Given the description of an element on the screen output the (x, y) to click on. 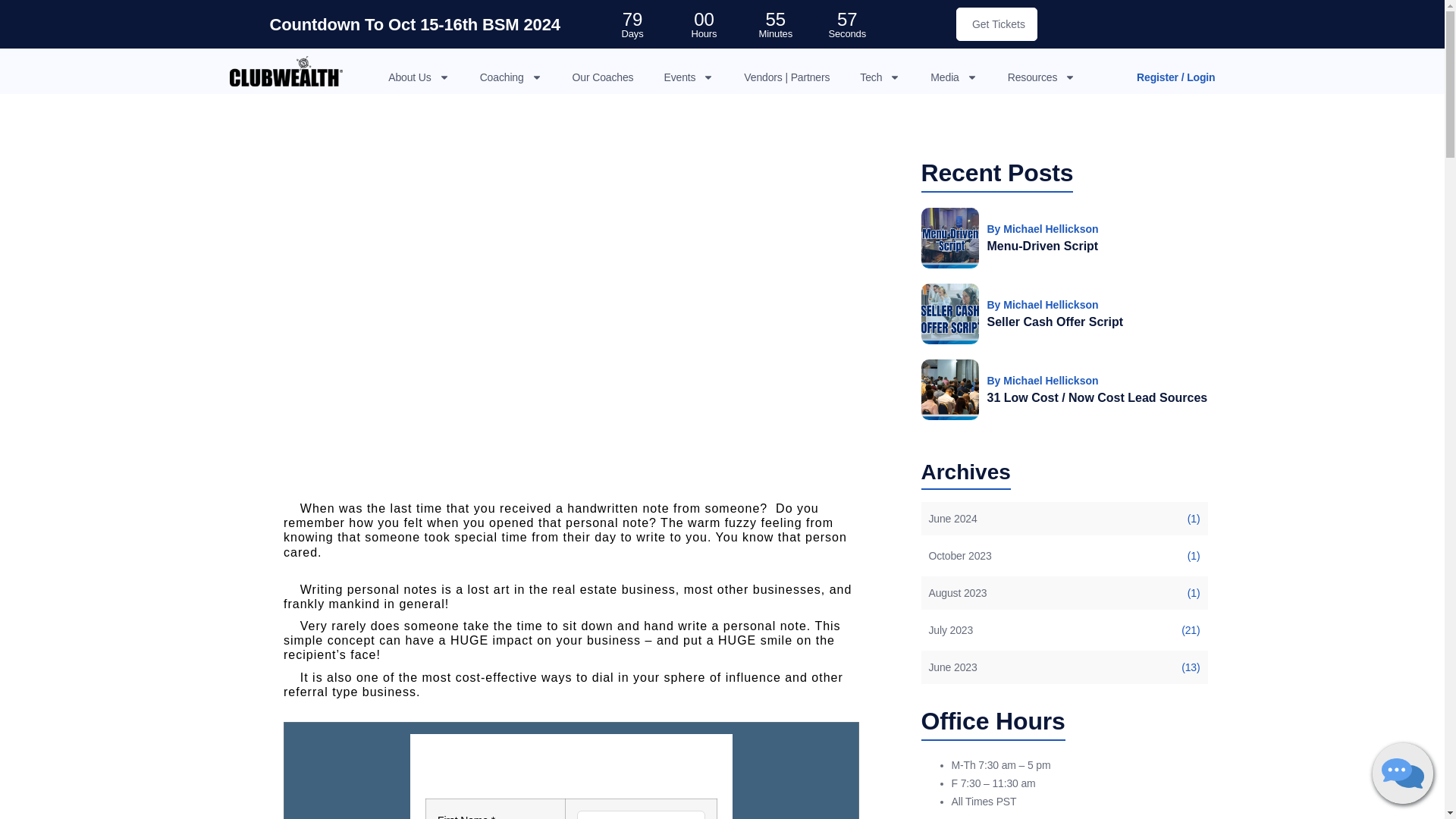
Get Tickets (996, 23)
Resources (1041, 76)
Tech (879, 76)
Media (953, 76)
About Us (418, 76)
Coaching (510, 76)
Our Coaches (602, 76)
Events (688, 76)
